Given the description of an element on the screen output the (x, y) to click on. 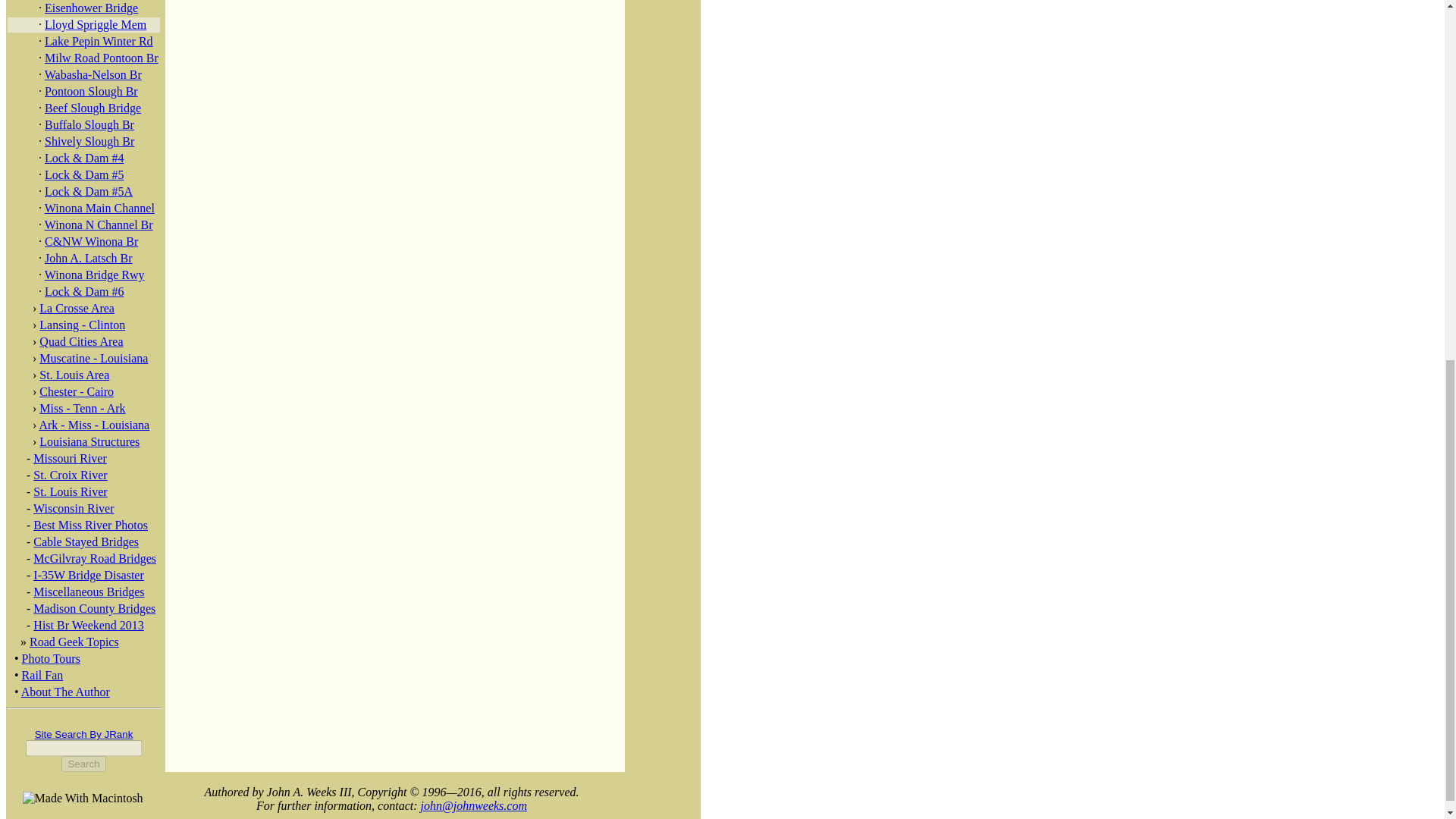
Search (82, 763)
